Given the description of an element on the screen output the (x, y) to click on. 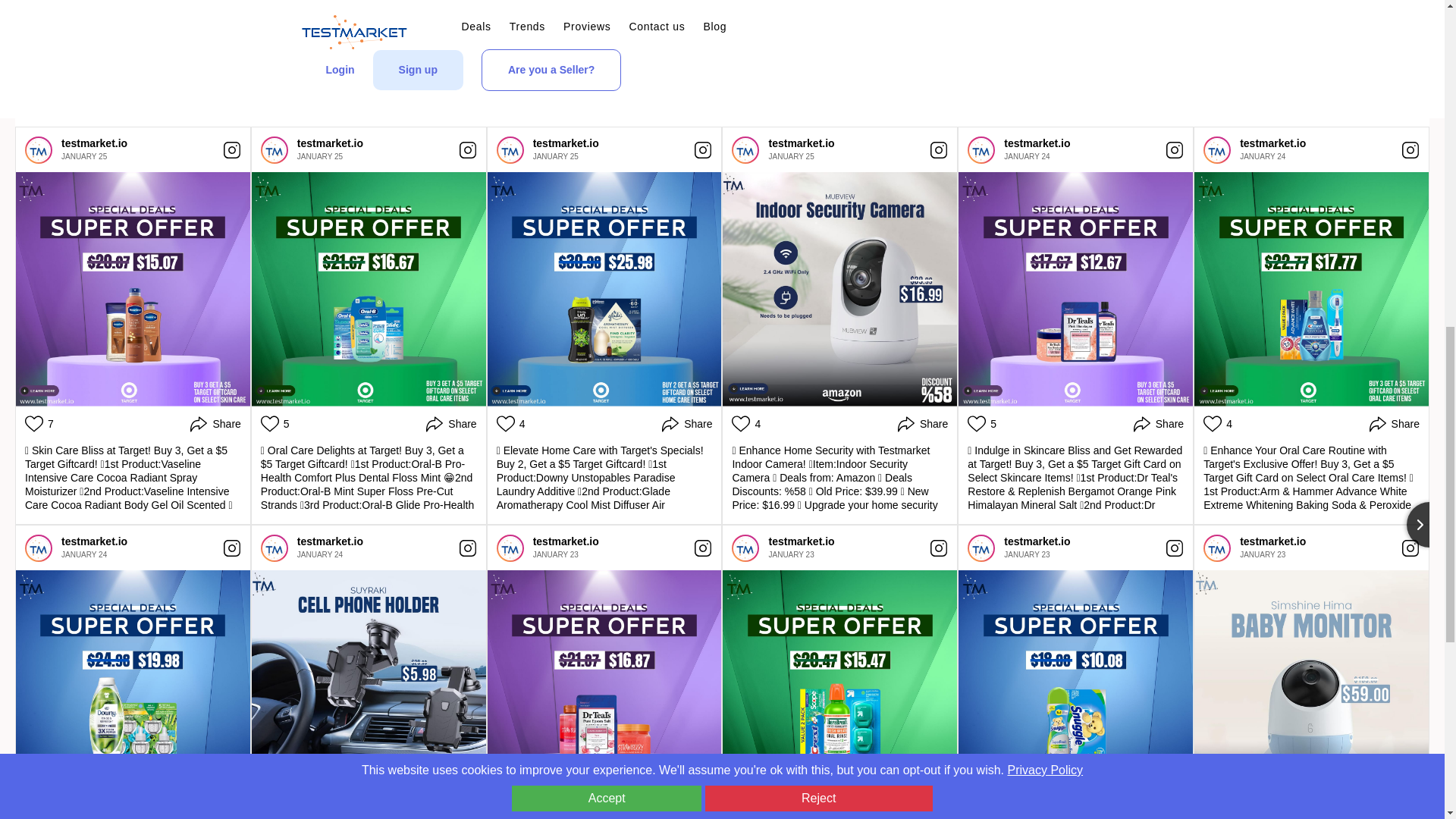
testmarket.io (38, 149)
testmarket.io (274, 149)
testmarket.io (1273, 143)
View on Instagram (938, 149)
testmarket.io (1217, 149)
testmarket.io (981, 149)
testmarket.io (329, 143)
testmarket.io (510, 149)
testmarket.io (801, 143)
View on Instagram (1174, 149)
View on Instagram (231, 149)
testmarket.io (94, 143)
View on Instagram (467, 149)
Follow (913, 93)
testmarket.io (94, 143)
